Given the description of an element on the screen output the (x, y) to click on. 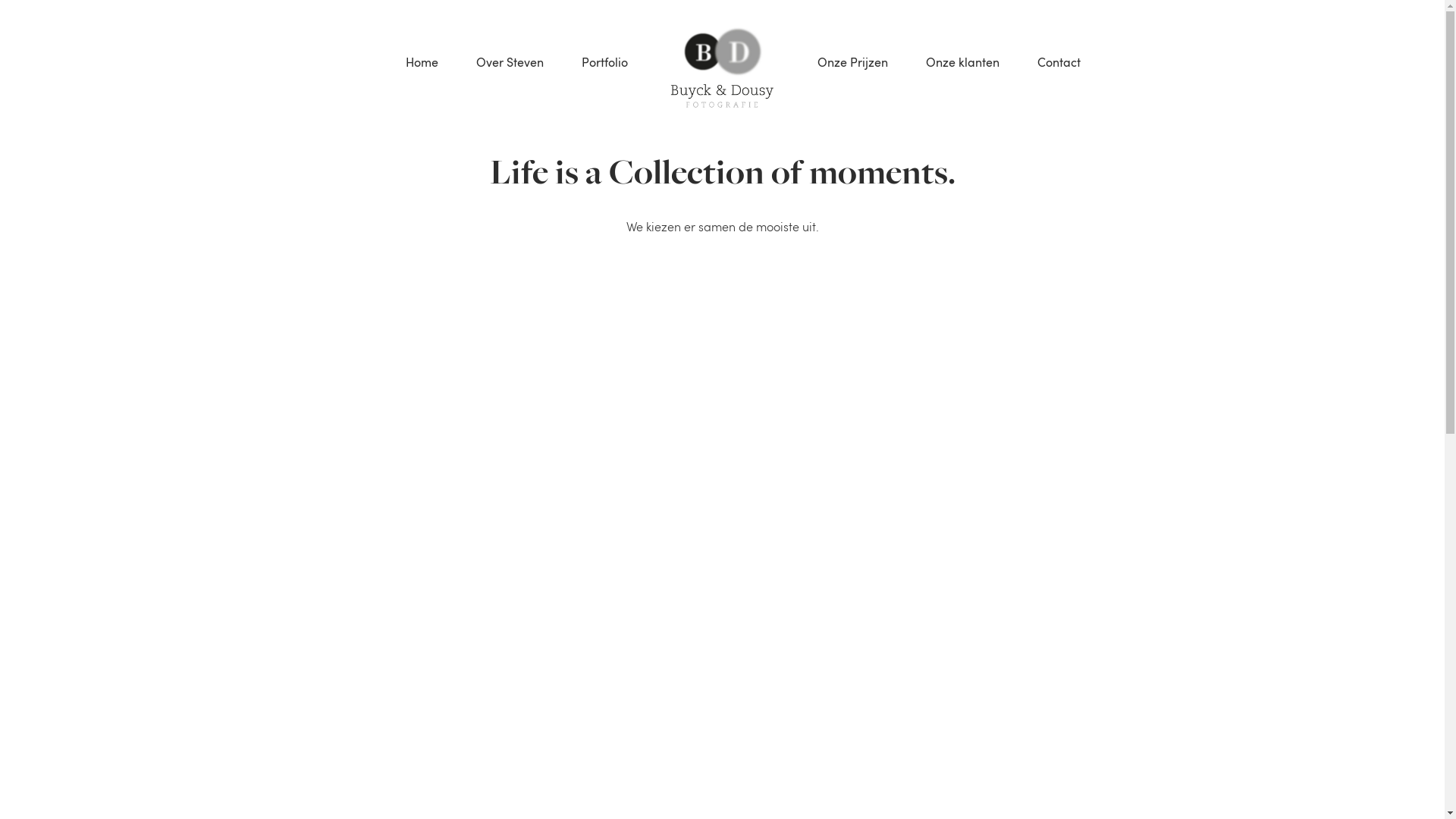
Home Element type: text (421, 62)
Over Steven Element type: text (508, 62)
Onze Prijzen Element type: text (851, 62)
Contact Element type: text (1057, 62)
Portfolio Element type: text (604, 62)
Onze klanten Element type: text (962, 62)
